Given the description of an element on the screen output the (x, y) to click on. 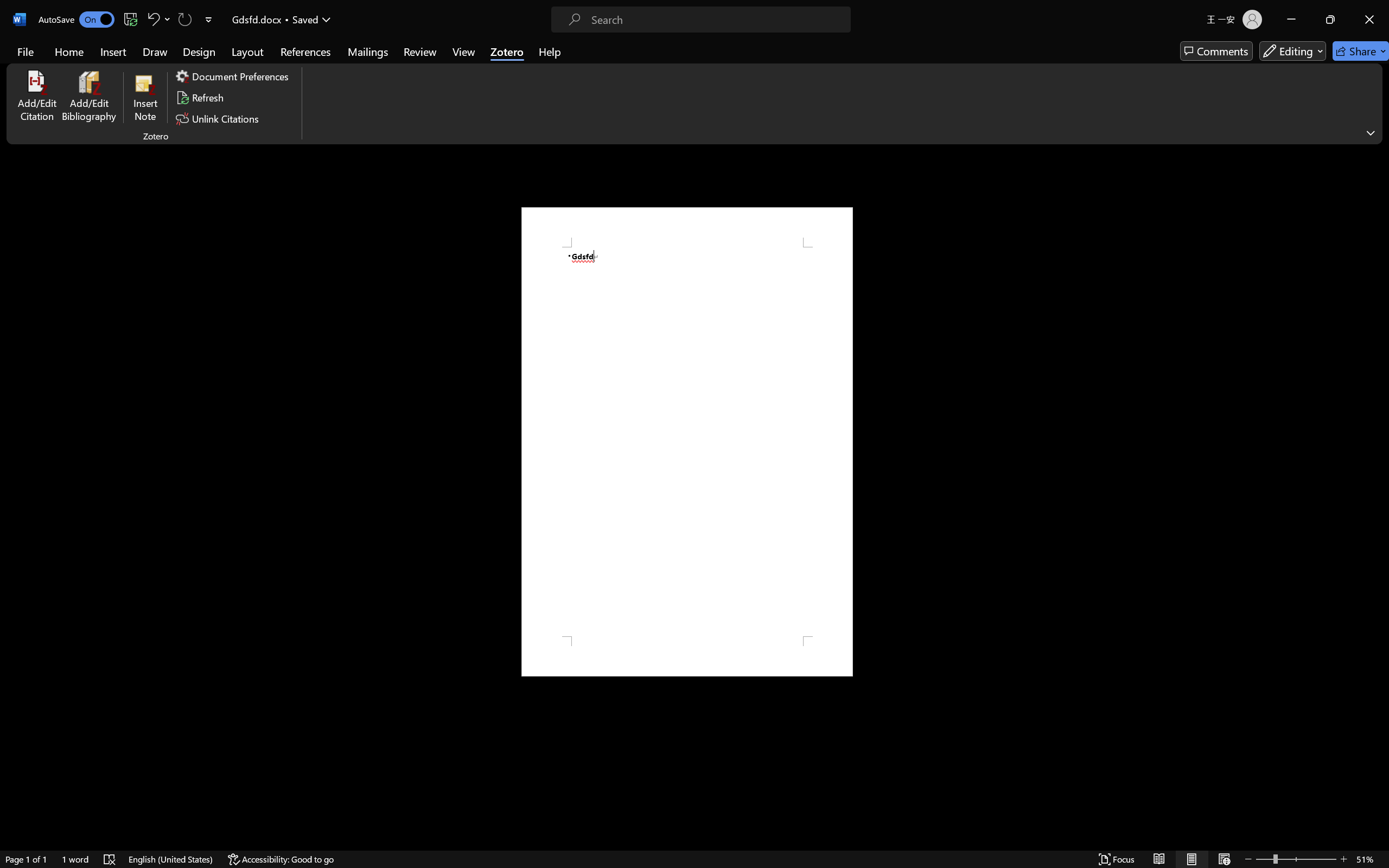
Page 1 content (686, 441)
